Given the description of an element on the screen output the (x, y) to click on. 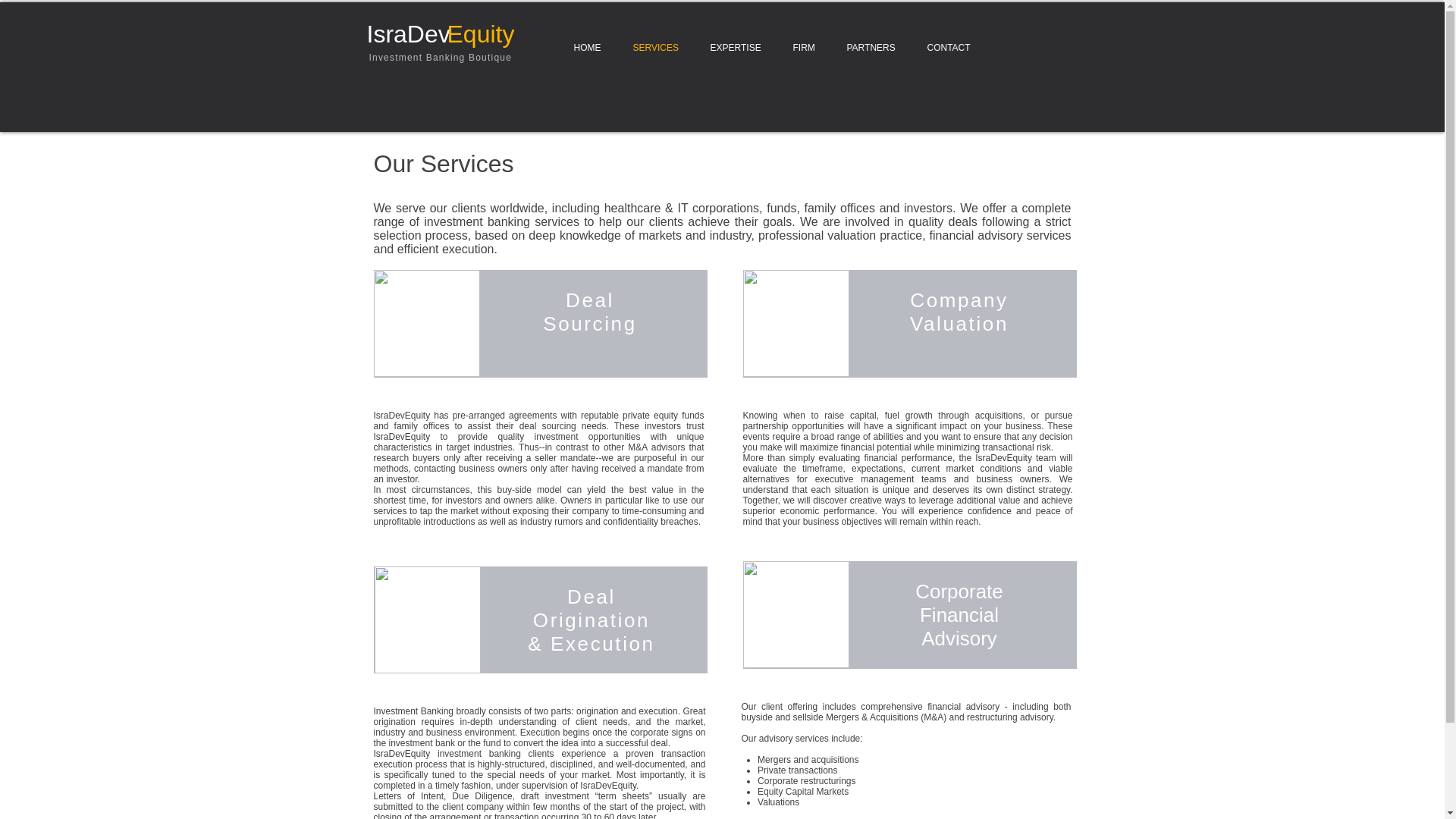
Equity (480, 33)
IsraDev (407, 33)
PARTNERS (871, 47)
EXPERTISE (735, 47)
CONTACT (949, 47)
Investment Banking Boutique (440, 57)
HOME (587, 47)
FIRM (802, 47)
SERVICES (655, 47)
